Given the description of an element on the screen output the (x, y) to click on. 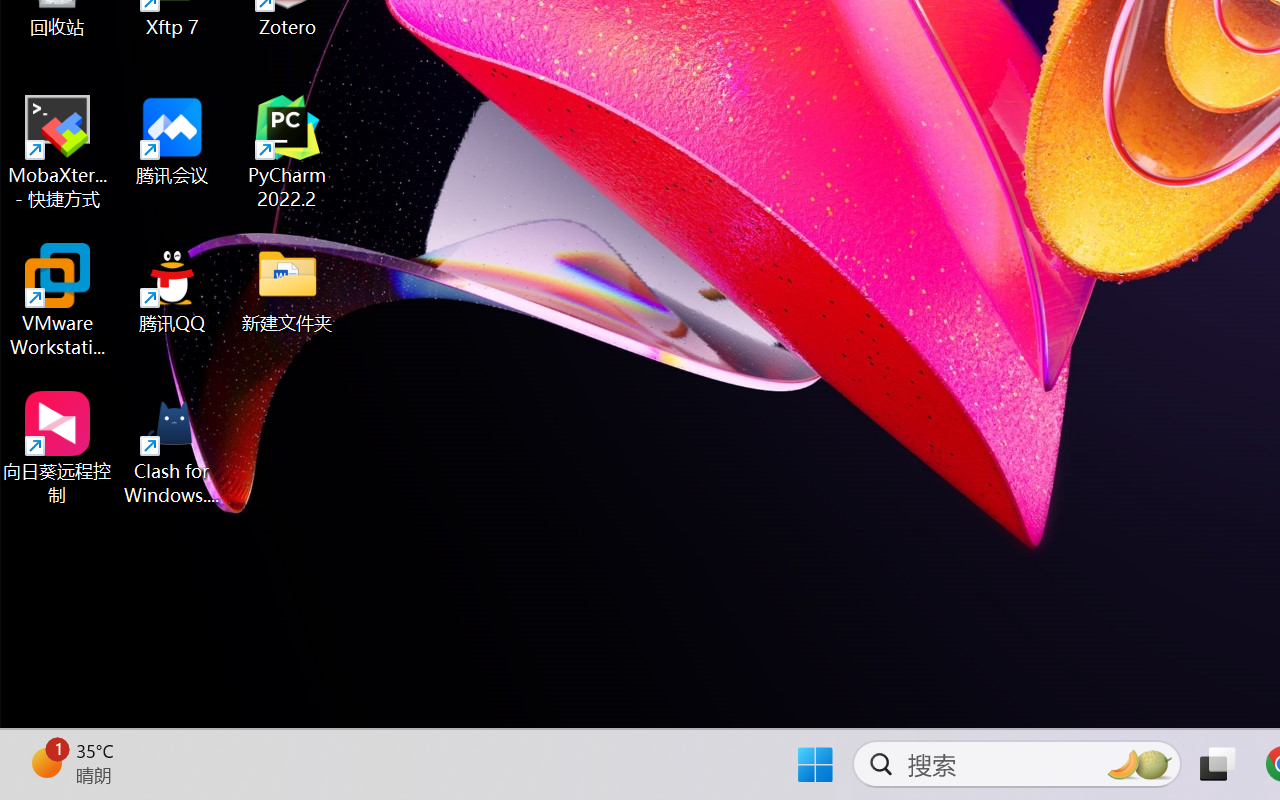
VMware Workstation Pro (57, 300)
PyCharm 2022.2 (287, 152)
